Given the description of an element on the screen output the (x, y) to click on. 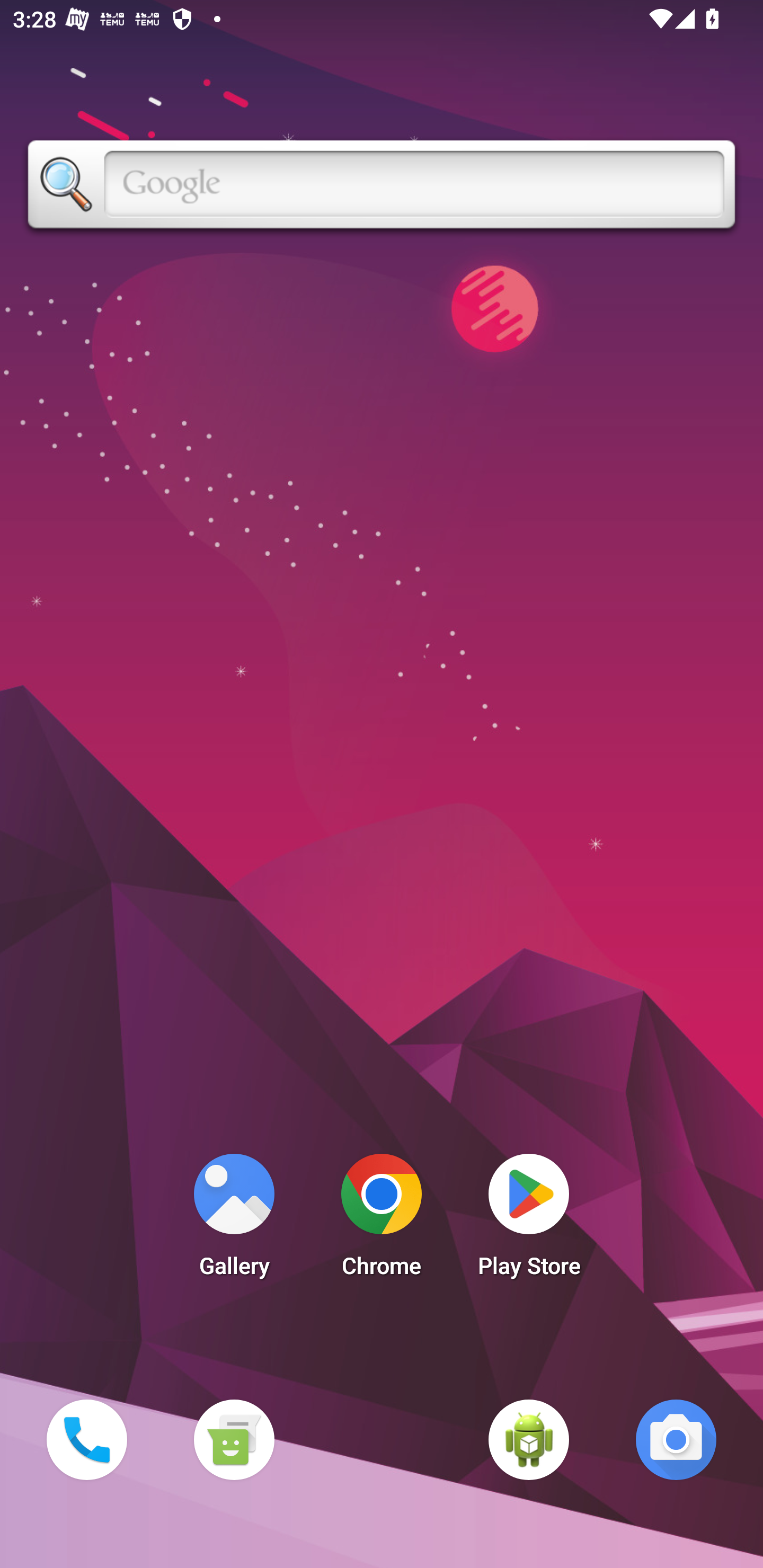
Gallery (233, 1220)
Chrome (381, 1220)
Play Store (528, 1220)
Phone (86, 1439)
Messaging (233, 1439)
WebView Browser Tester (528, 1439)
Camera (676, 1439)
